Given the description of an element on the screen output the (x, y) to click on. 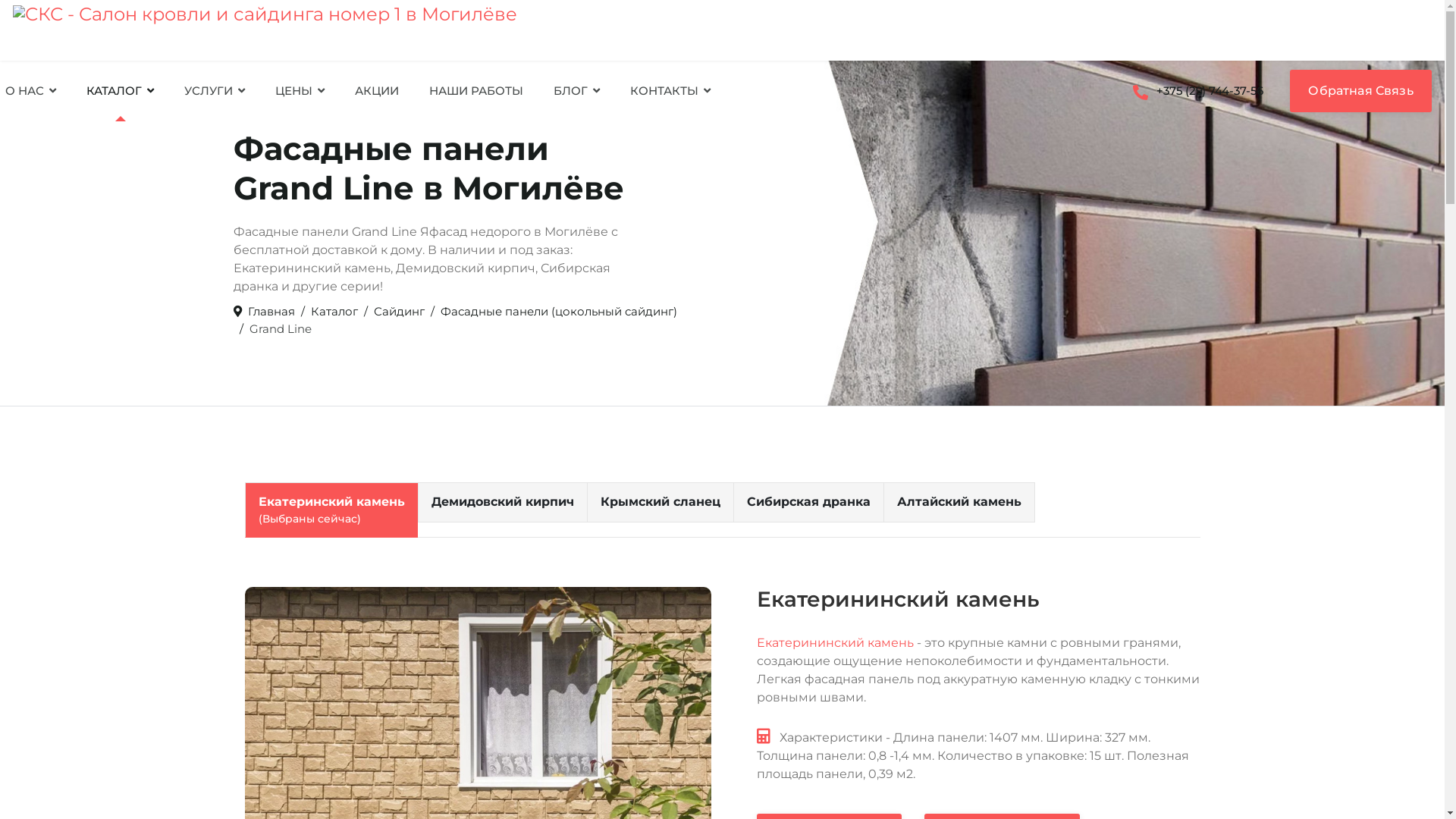
+375 (29) 744-37-56 Element type: text (1197, 90)
